Given the description of an element on the screen output the (x, y) to click on. 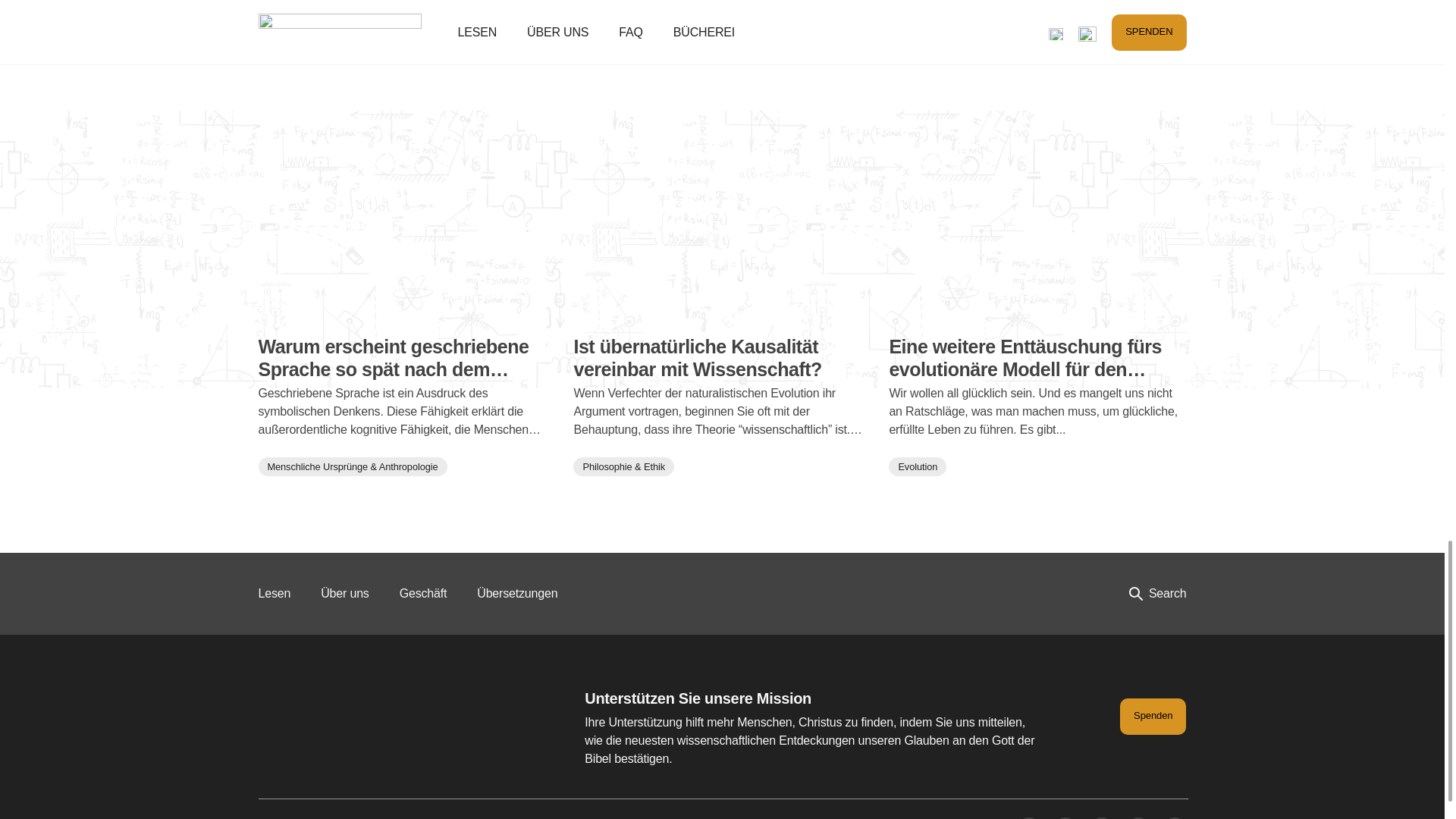
twitter (1064, 818)
facebook (1028, 818)
Search (1157, 593)
Lesen (273, 593)
Spenden (1152, 716)
Listen on PodBean (722, 14)
